Given the description of an element on the screen output the (x, y) to click on. 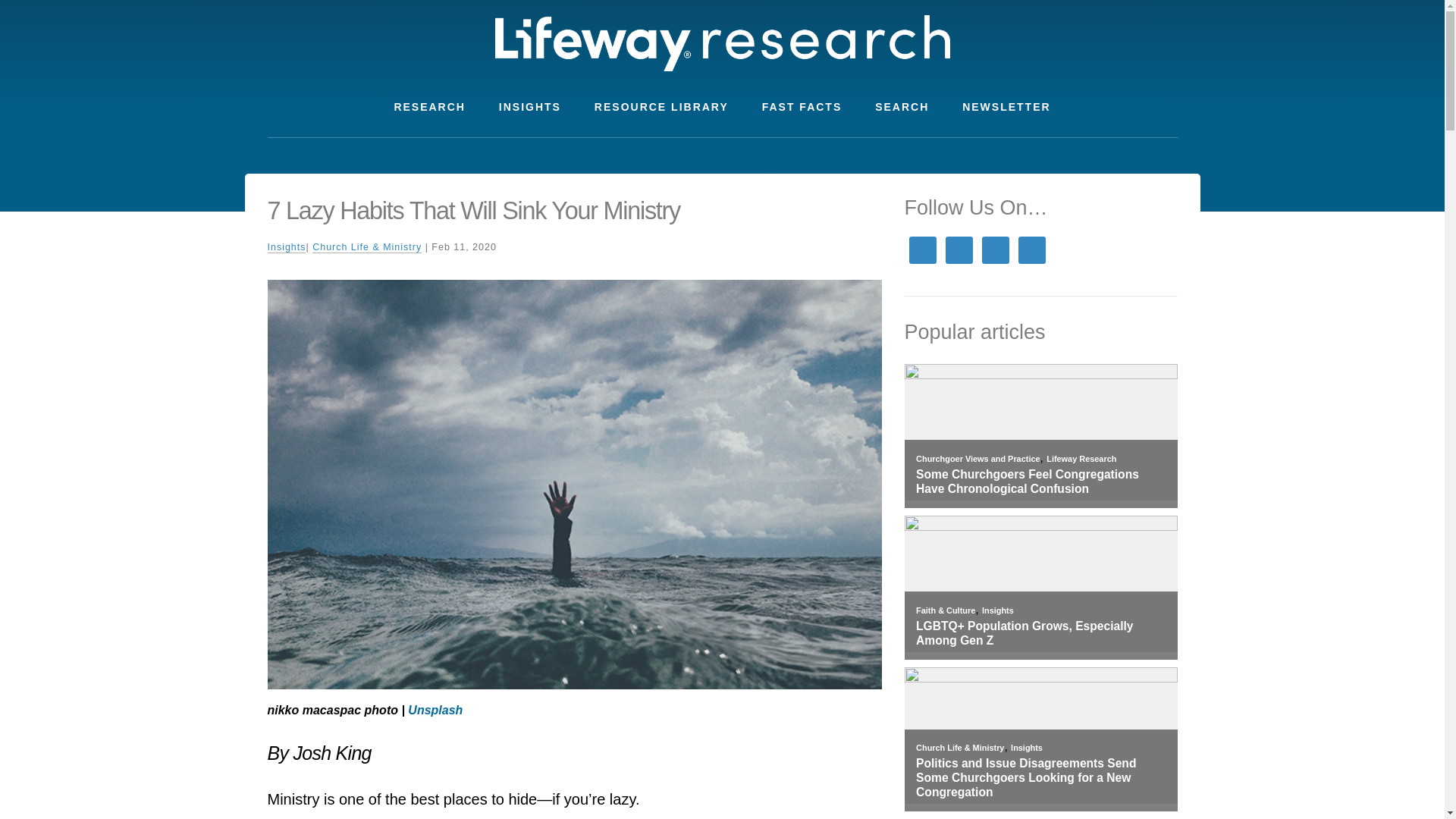
Insights (1026, 747)
RESEARCH (429, 106)
Churchgoer Views and Practice (977, 458)
Insights (997, 610)
RESOURCE LIBRARY (661, 106)
Unsplash (435, 709)
FAST FACTS (801, 106)
SEARCH (901, 106)
